Given the description of an element on the screen output the (x, y) to click on. 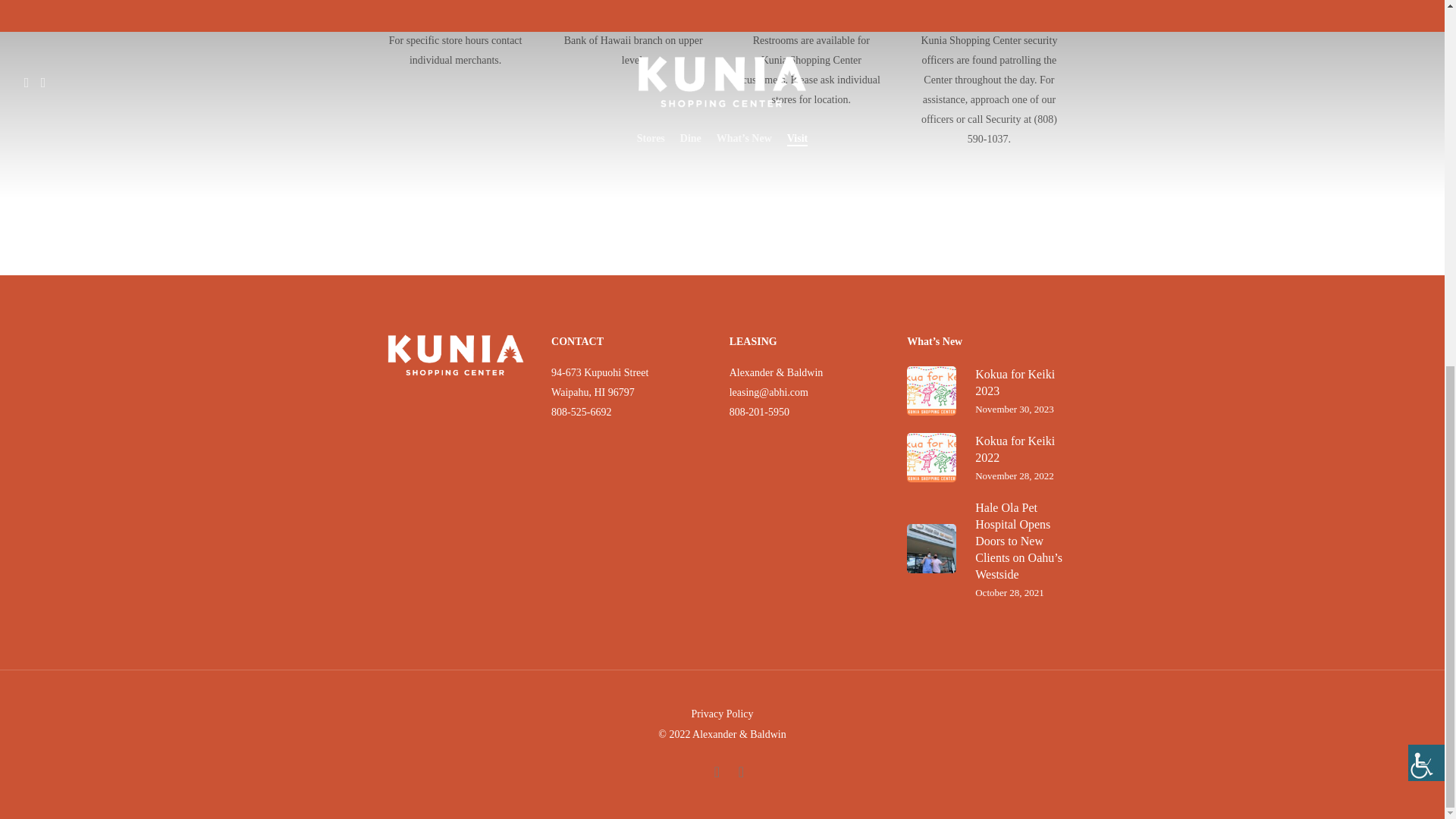
facebook (716, 773)
Accessibility Helper sidebar (988, 457)
Privacy Policy (1425, 103)
instagram (721, 713)
